Given the description of an element on the screen output the (x, y) to click on. 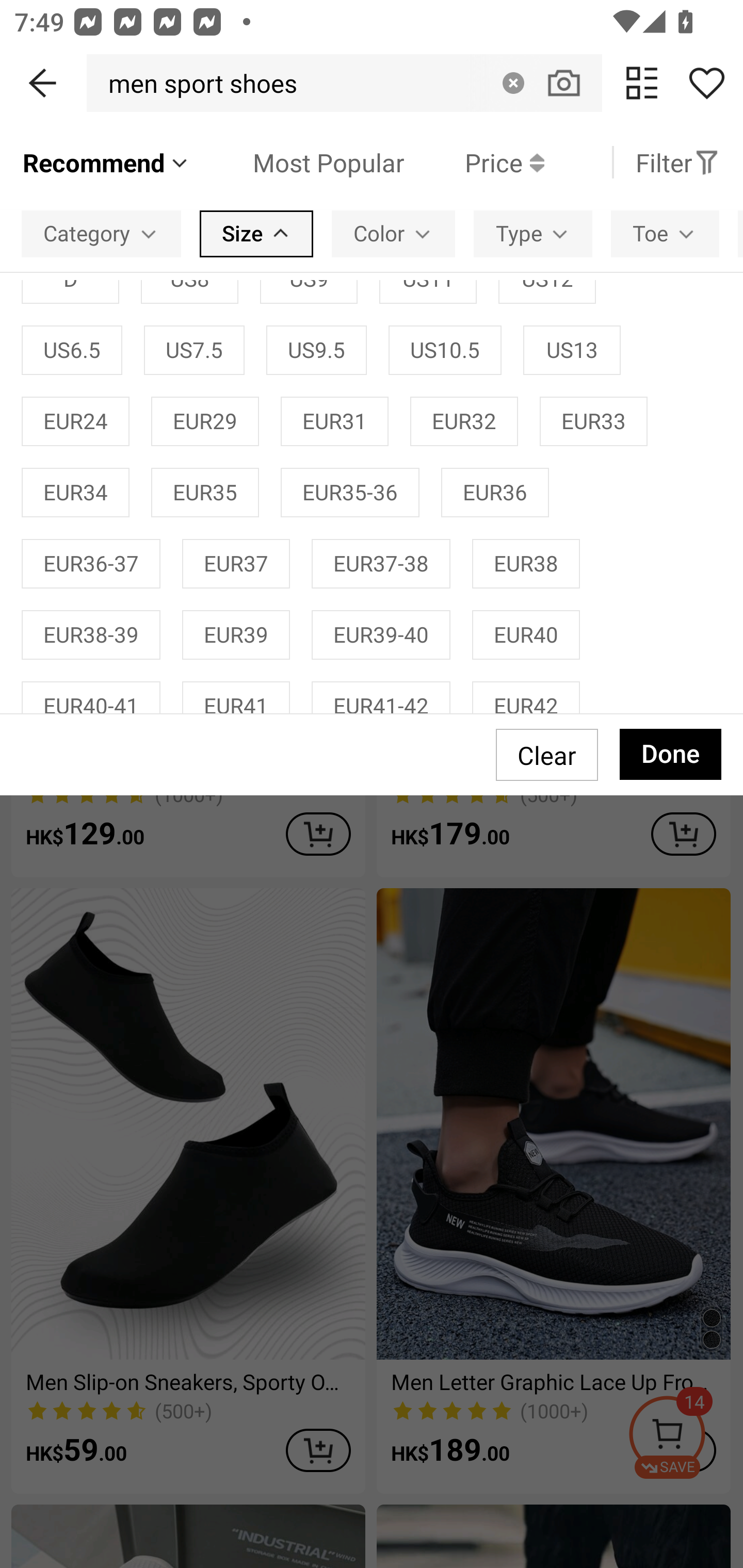
men sport shoes Clear (343, 82)
men sport shoes (197, 82)
Clear (513, 82)
change view (641, 82)
Share (706, 82)
Recommend (106, 162)
Most Popular (297, 162)
Price (474, 162)
Filter (677, 162)
Category (101, 233)
Size (256, 233)
Color (393, 233)
Type (533, 233)
Toe (664, 233)
